Given the description of an element on the screen output the (x, y) to click on. 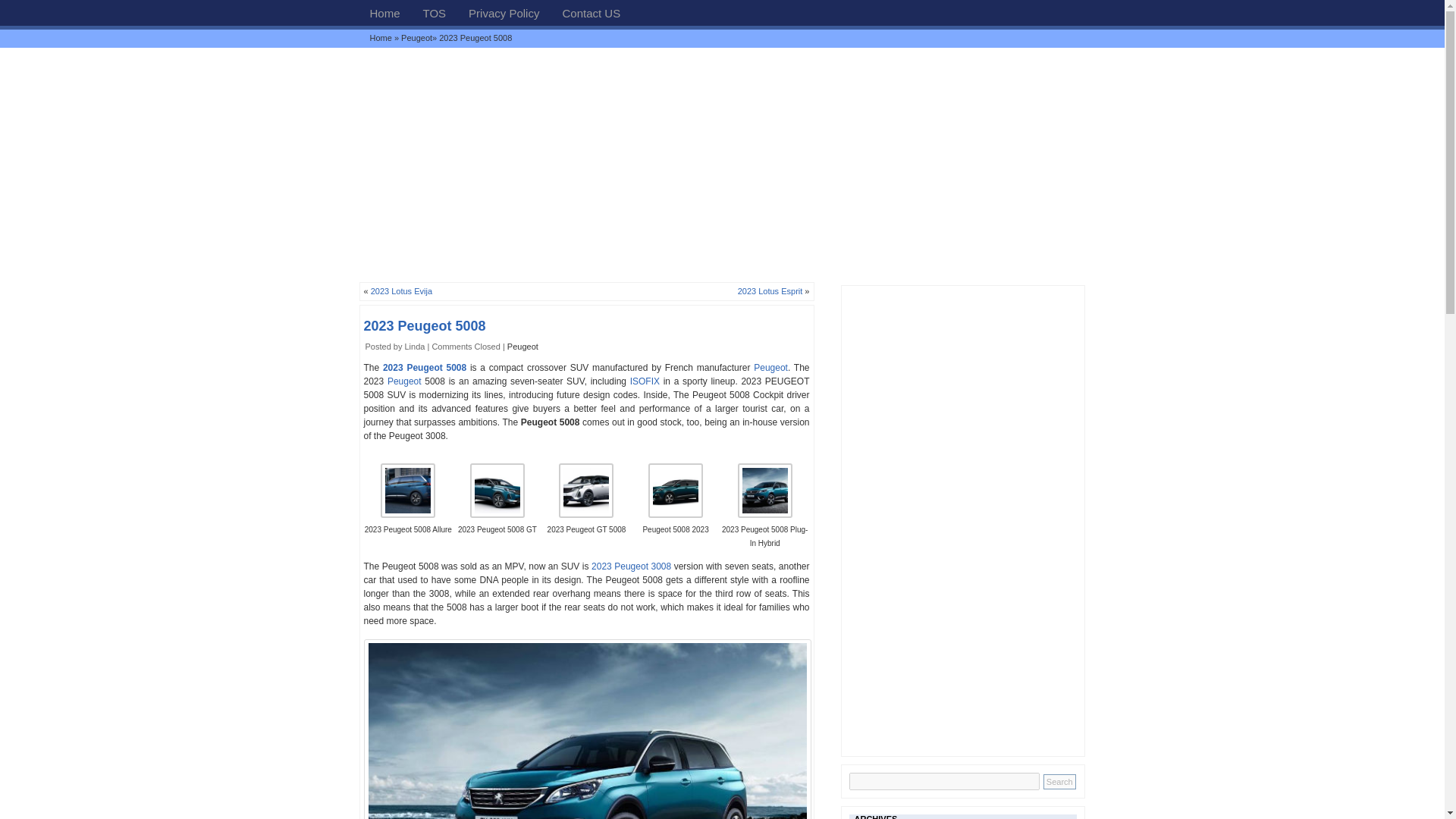
2023 Peugeot 5008 (425, 325)
GTOPCARS.COM (380, 37)
2023 Peugeot 3008 (631, 566)
2023 Peugeot 3008 (631, 566)
Peugeot (770, 367)
TOS (435, 12)
Privacy Policy (503, 12)
Peugeot (416, 37)
Peugeot (404, 380)
Home (384, 12)
ISOFIX (644, 380)
2023 Lotus Evija (401, 290)
Contact US (590, 12)
Peugeot (404, 380)
